Given the description of an element on the screen output the (x, y) to click on. 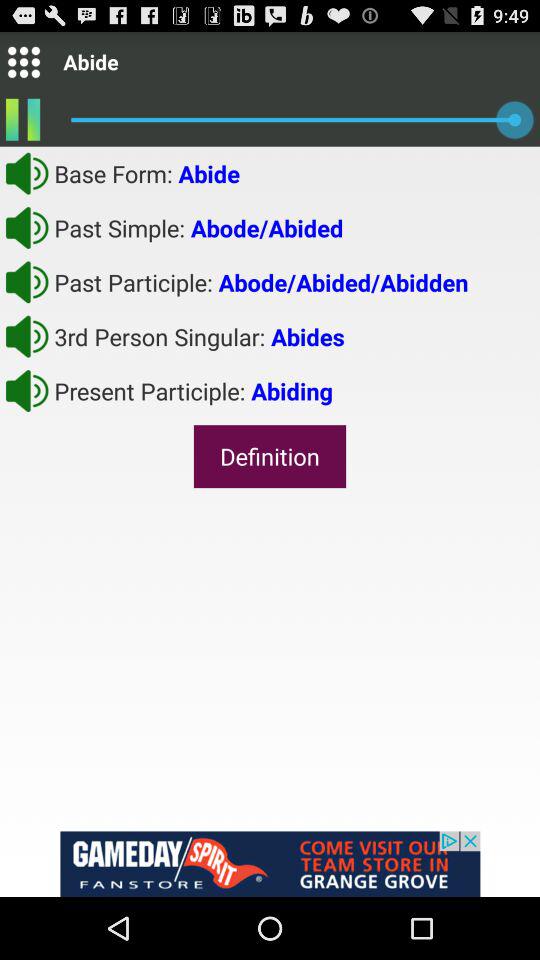
select the audio (27, 227)
